Given the description of an element on the screen output the (x, y) to click on. 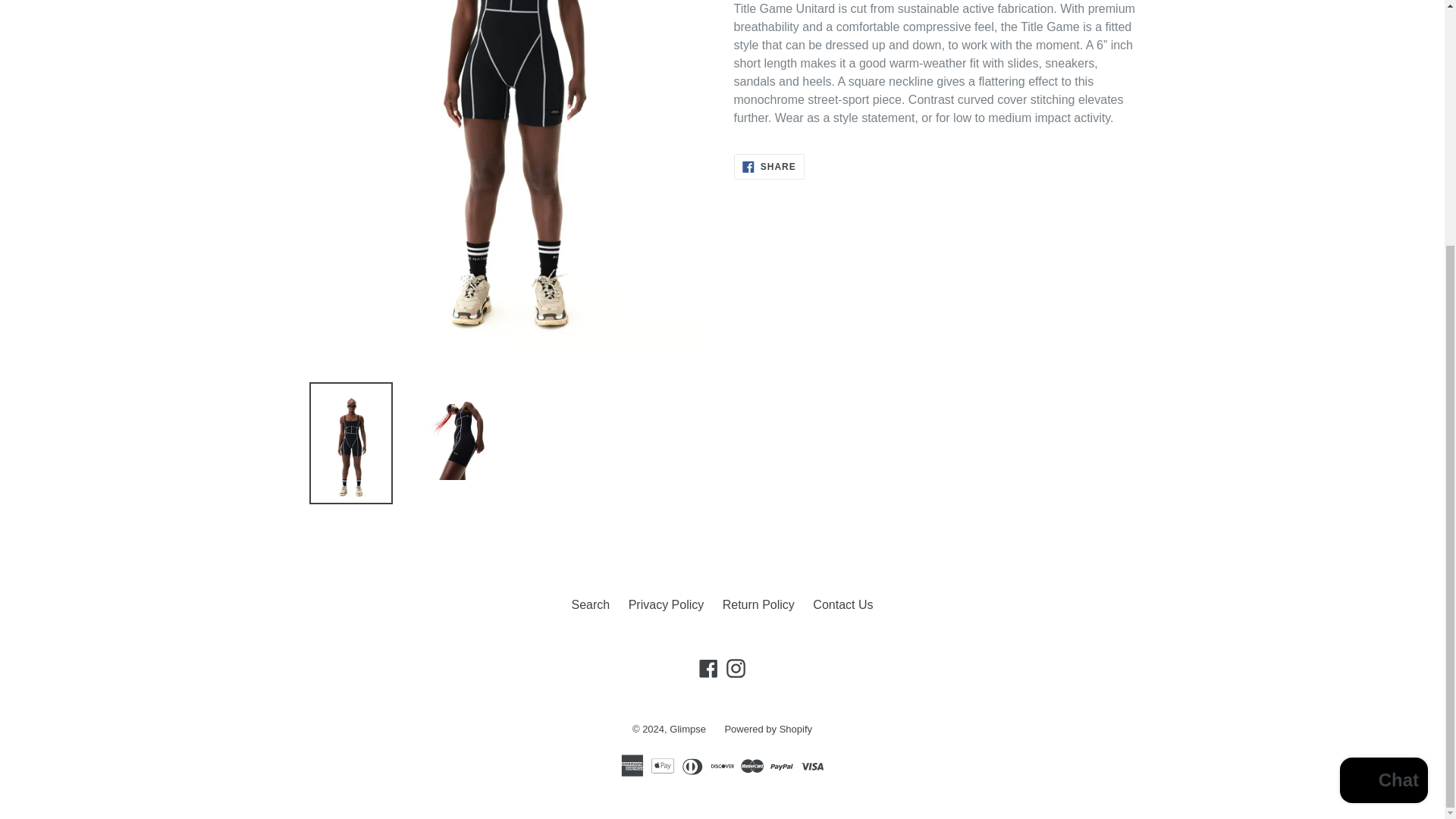
Glimpse on Facebook (708, 667)
Share on Facebook (769, 166)
Shopify online store chat (1383, 440)
Glimpse on Instagram (735, 667)
